Given the description of an element on the screen output the (x, y) to click on. 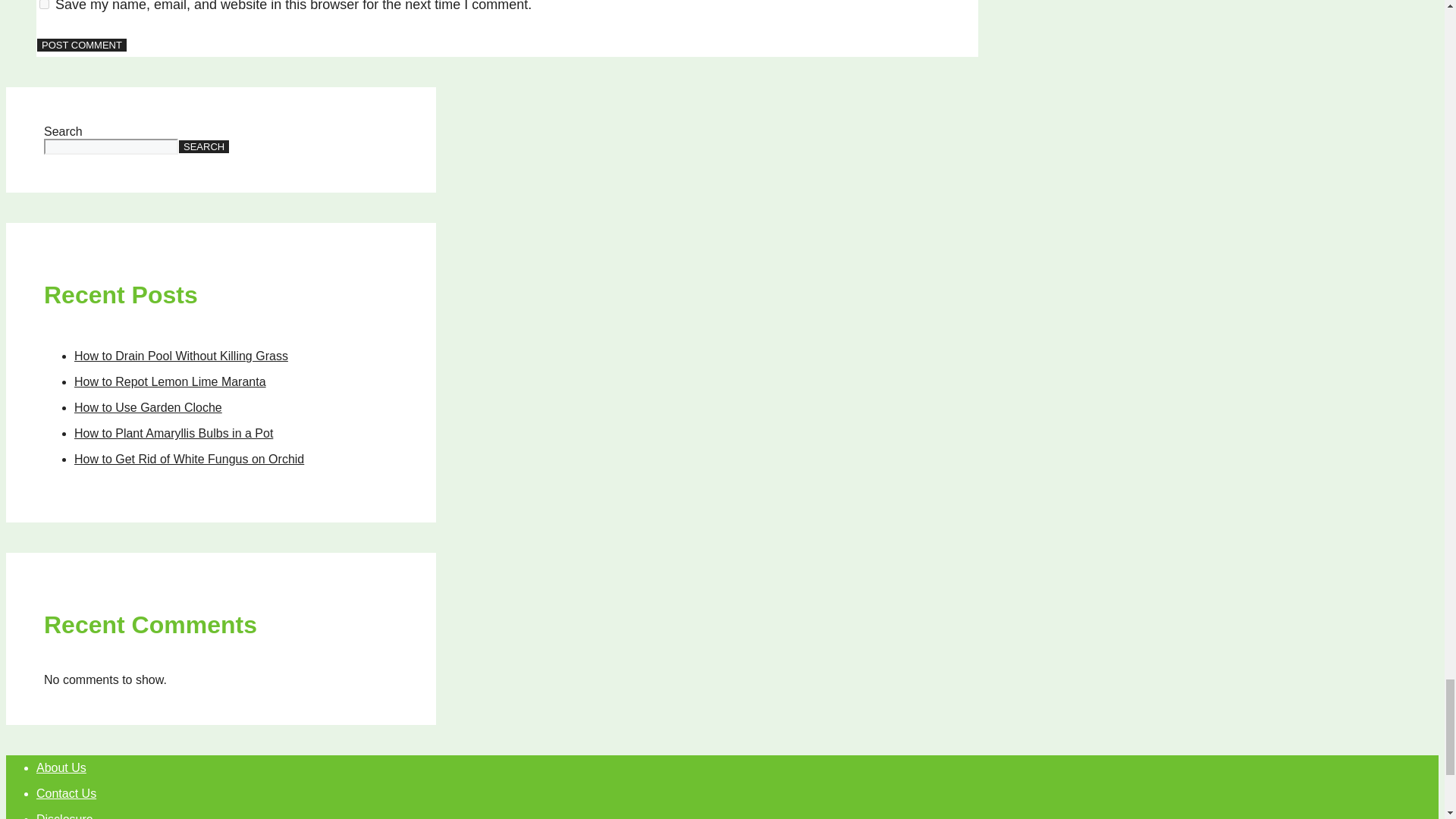
How to Get Rid of White Fungus on Orchid (189, 459)
How to Plant Amaryllis Bulbs in a Pot (173, 432)
Post Comment (82, 44)
SEARCH (203, 146)
Contact Us (66, 793)
yes (44, 4)
How to Drain Pool Without Killing Grass (181, 355)
How to Repot Lemon Lime Maranta (170, 381)
How to Use Garden Cloche (148, 407)
Post Comment (82, 44)
